Given the description of an element on the screen output the (x, y) to click on. 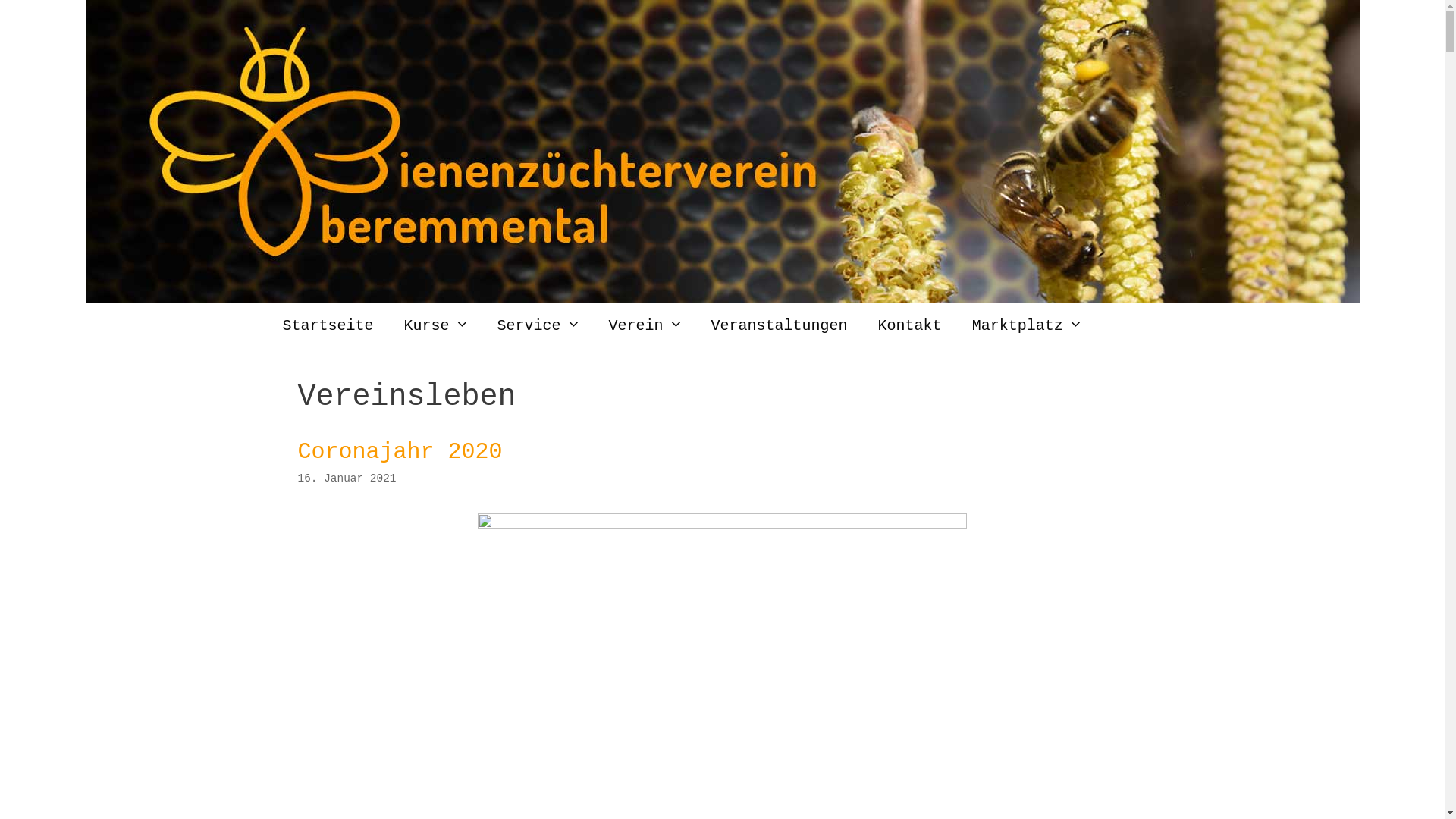
Kurse Element type: text (435, 325)
Coronajahr 2020 Element type: text (399, 451)
Kontakt Element type: text (909, 325)
Veranstaltungen Element type: text (779, 325)
Service Element type: text (537, 325)
16. Januar 2021 Element type: text (346, 478)
Springe zum Inhalt Element type: text (0, 0)
Verein Element type: text (644, 325)
Startseite Element type: text (327, 325)
Coronajahr 2020 Element type: hover (721, 524)
Marktplatz Element type: text (1026, 325)
